Given the description of an element on the screen output the (x, y) to click on. 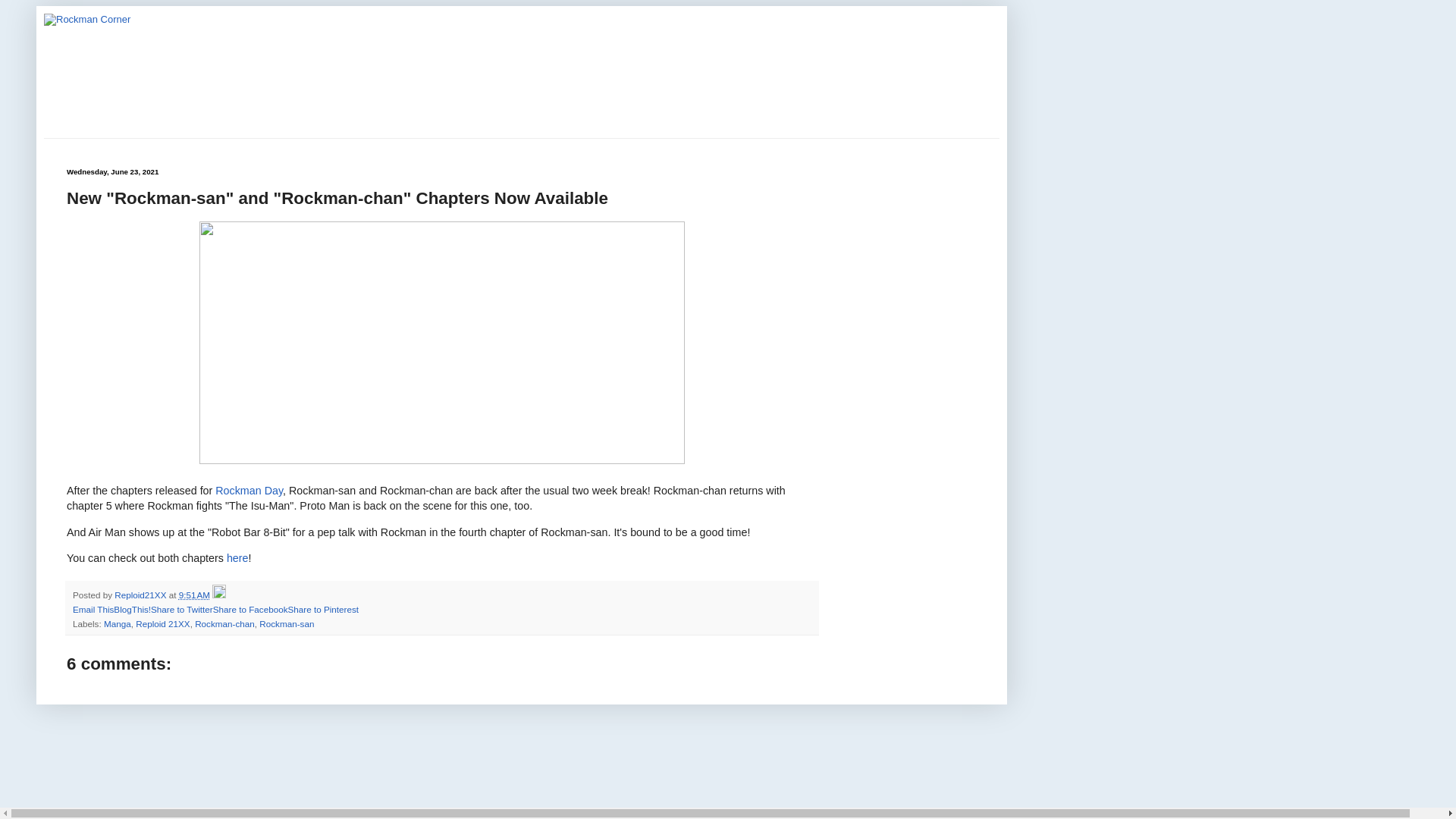
Share to Facebook (250, 609)
Rockman Day (248, 490)
Reploid 21XX (162, 623)
Email This (92, 609)
Share to Twitter (181, 609)
Rockman-chan (224, 623)
Reploid21XX (141, 594)
BlogThis! (132, 609)
Share to Facebook (250, 609)
Manga (117, 623)
Share to Twitter (181, 609)
here (237, 558)
permanent link (194, 594)
BlogThis! (132, 609)
